Given the description of an element on the screen output the (x, y) to click on. 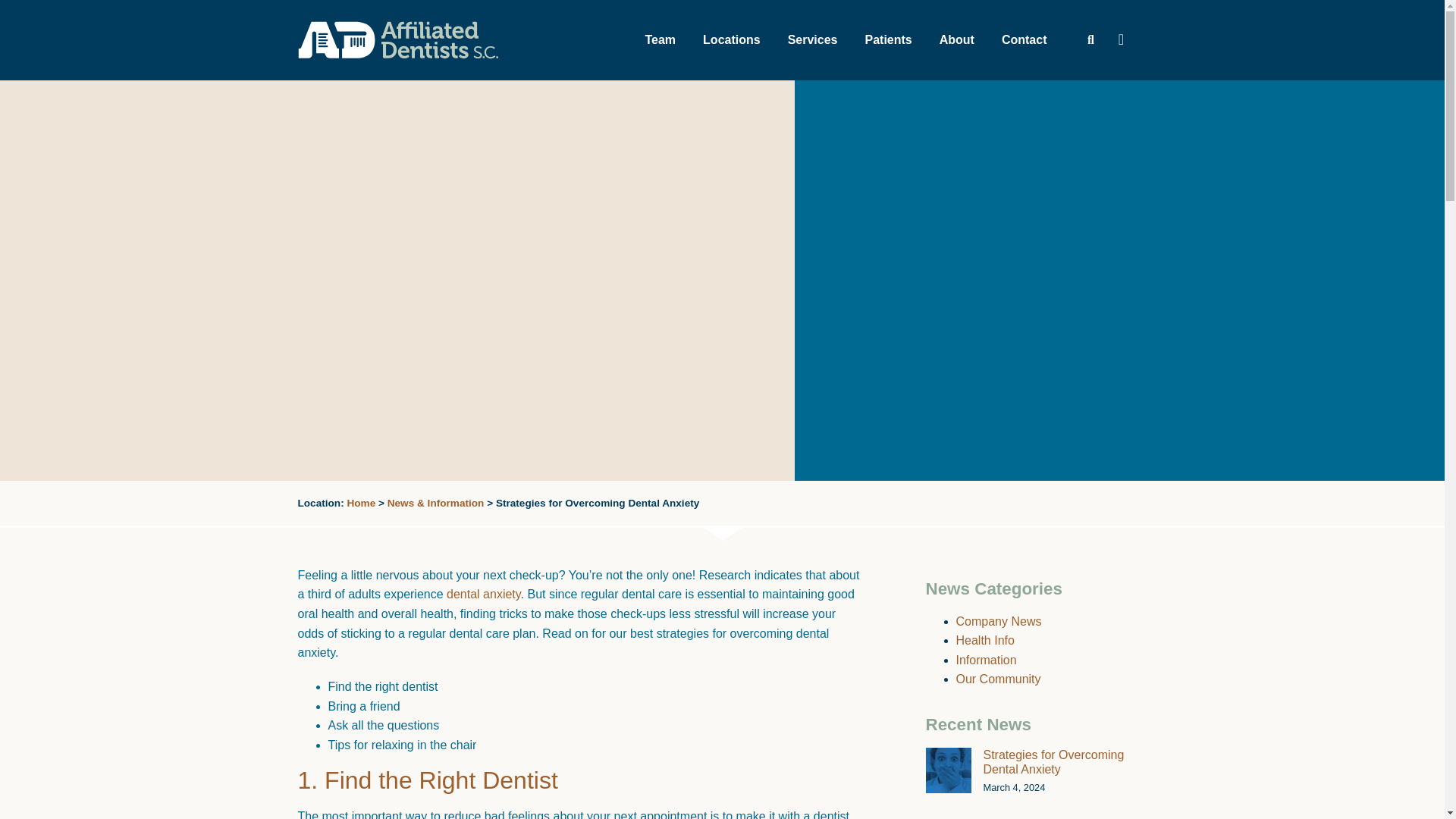
Patients (887, 40)
Our Locations (731, 40)
dental anxiety (483, 594)
Contact Us (1024, 40)
Services (812, 40)
Patient Support (887, 40)
Home (360, 502)
Locations (731, 40)
Contact (1024, 40)
Our Services (812, 40)
